Given the description of an element on the screen output the (x, y) to click on. 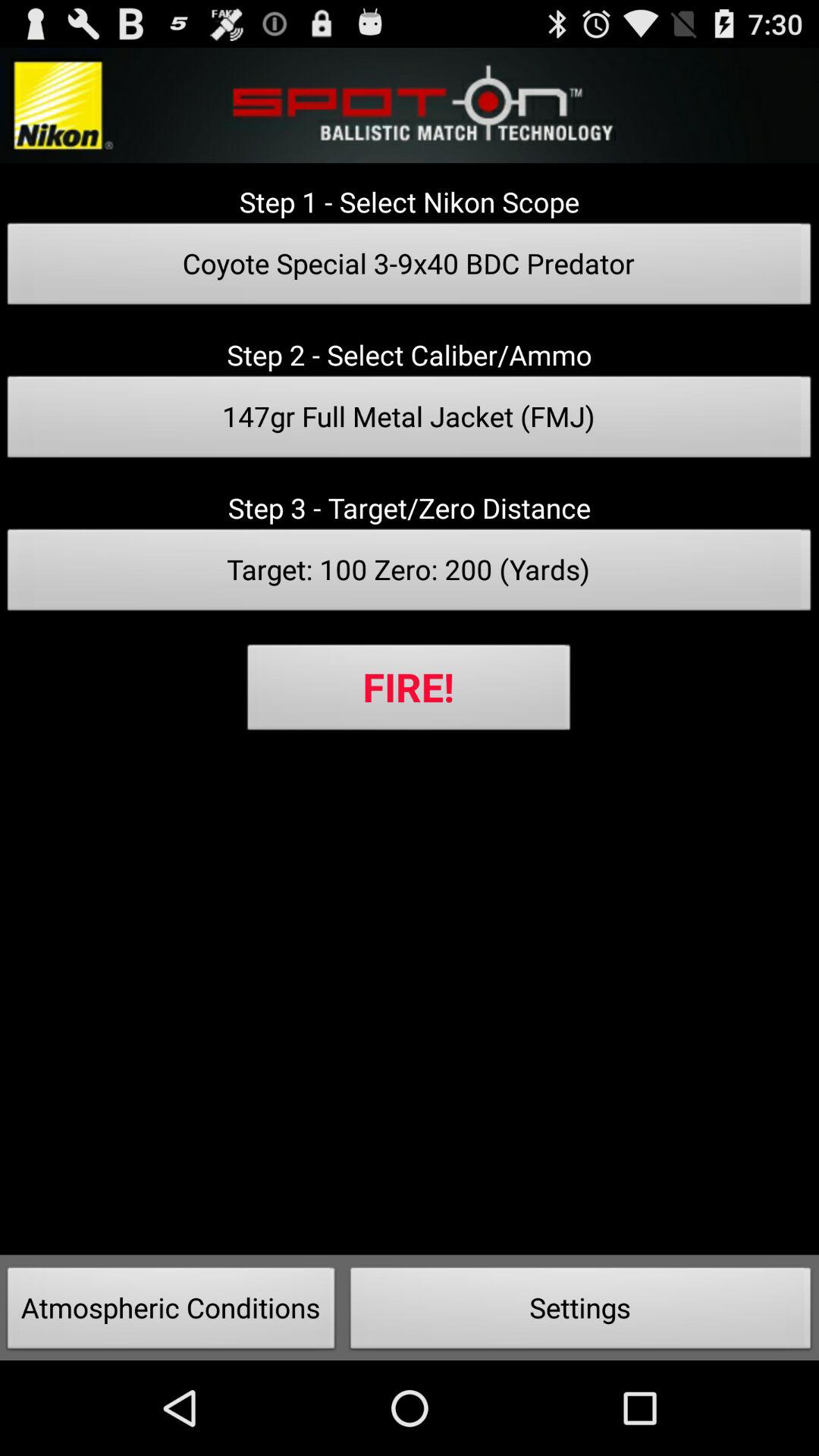
turn off the settings item (580, 1312)
